Given the description of an element on the screen output the (x, y) to click on. 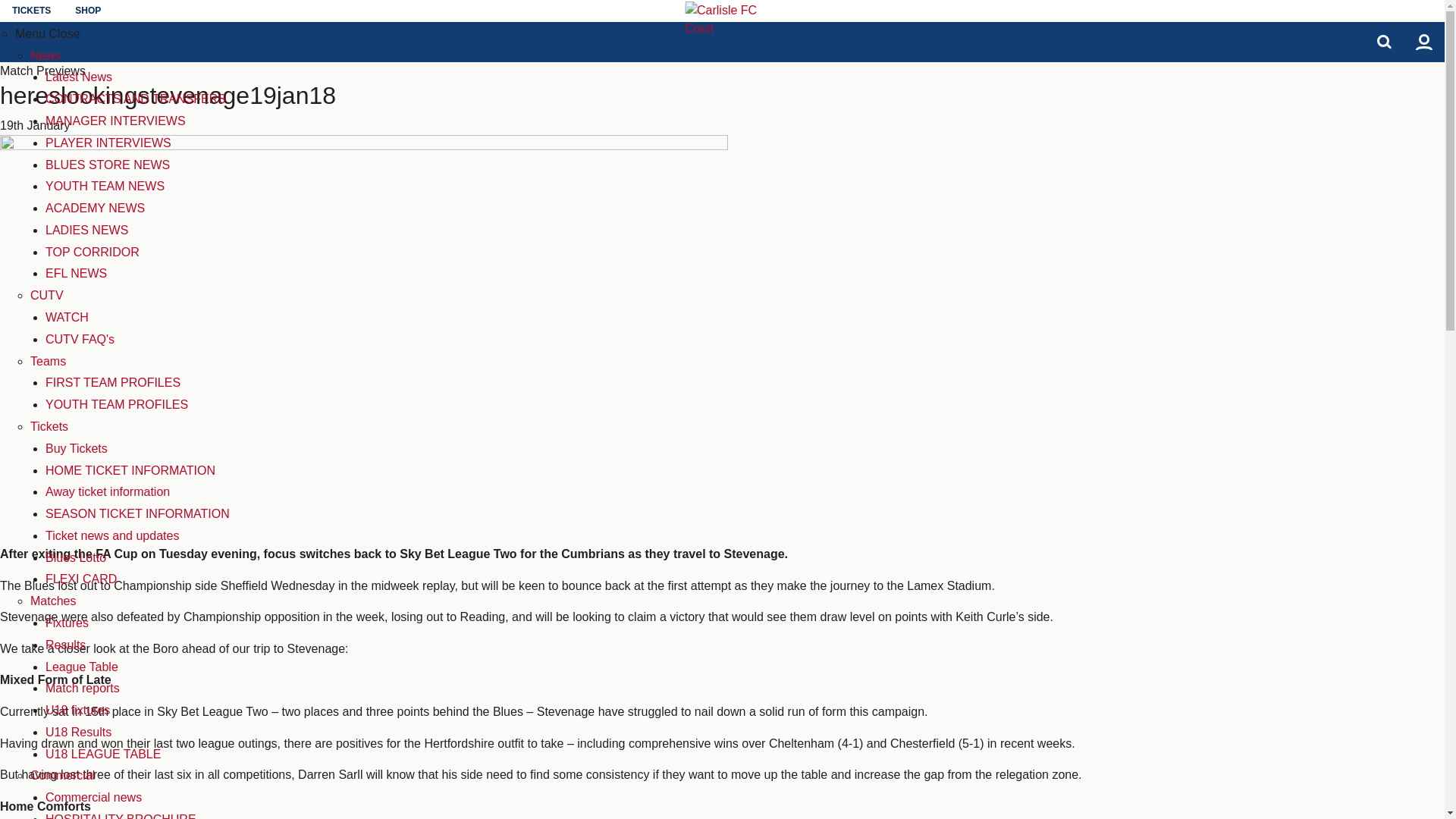
YOUTH TEAM NEWS (104, 185)
TOP CORRIDOR (92, 251)
Away ticket information (107, 491)
Tickets (49, 426)
EFL NEWS (75, 273)
PLAYER INTERVIEWS (108, 142)
Commercial (62, 775)
SHOP (87, 11)
Ticket news and updates (112, 535)
Buy Tickets (76, 448)
Blues Lotto (75, 557)
HOME TICKET INFORMATION (130, 470)
Commercial news (93, 797)
CONTRACTS AND TRANSFERS (135, 98)
